Given the description of an element on the screen output the (x, y) to click on. 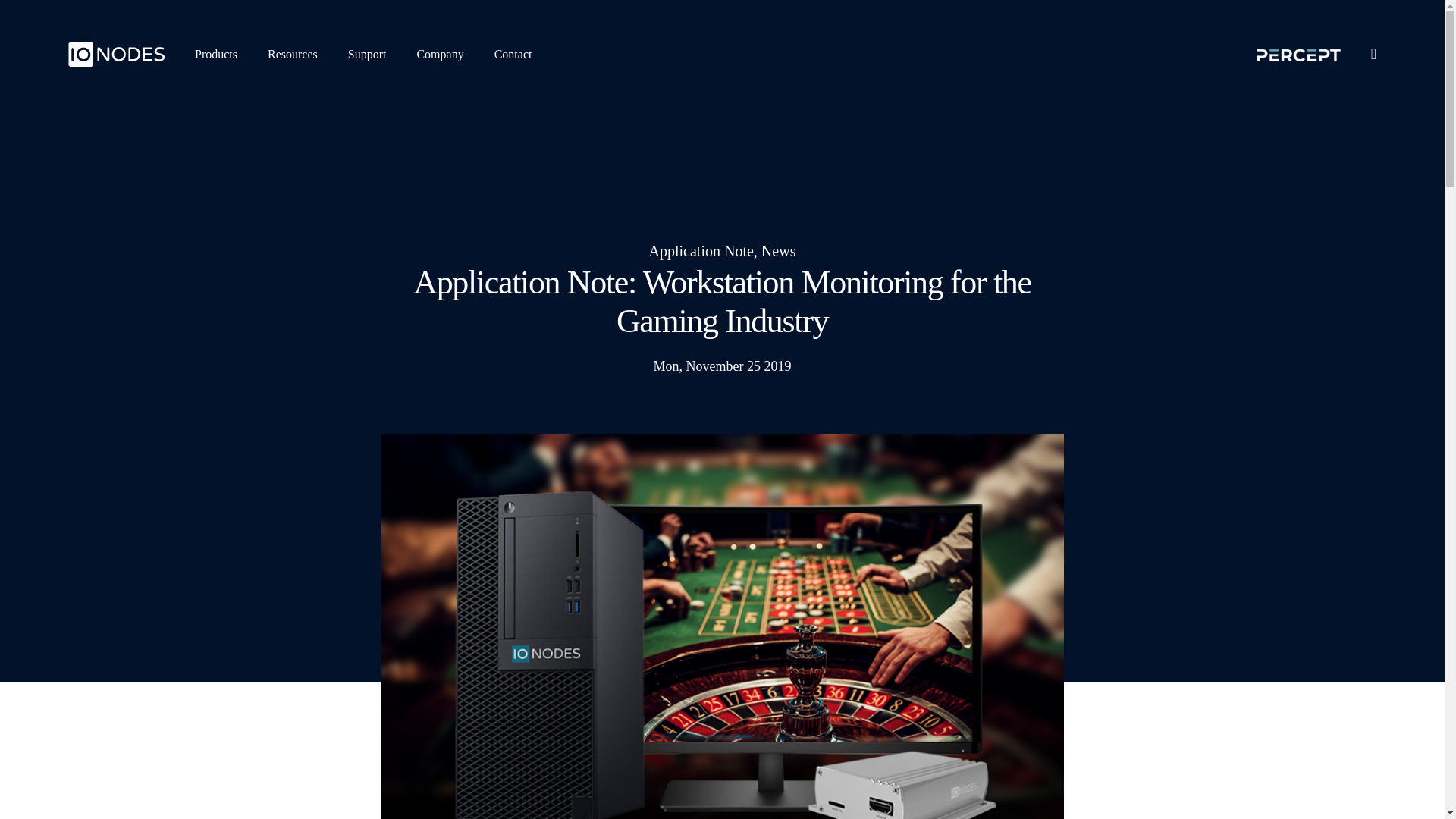
Products (216, 53)
